Given the description of an element on the screen output the (x, y) to click on. 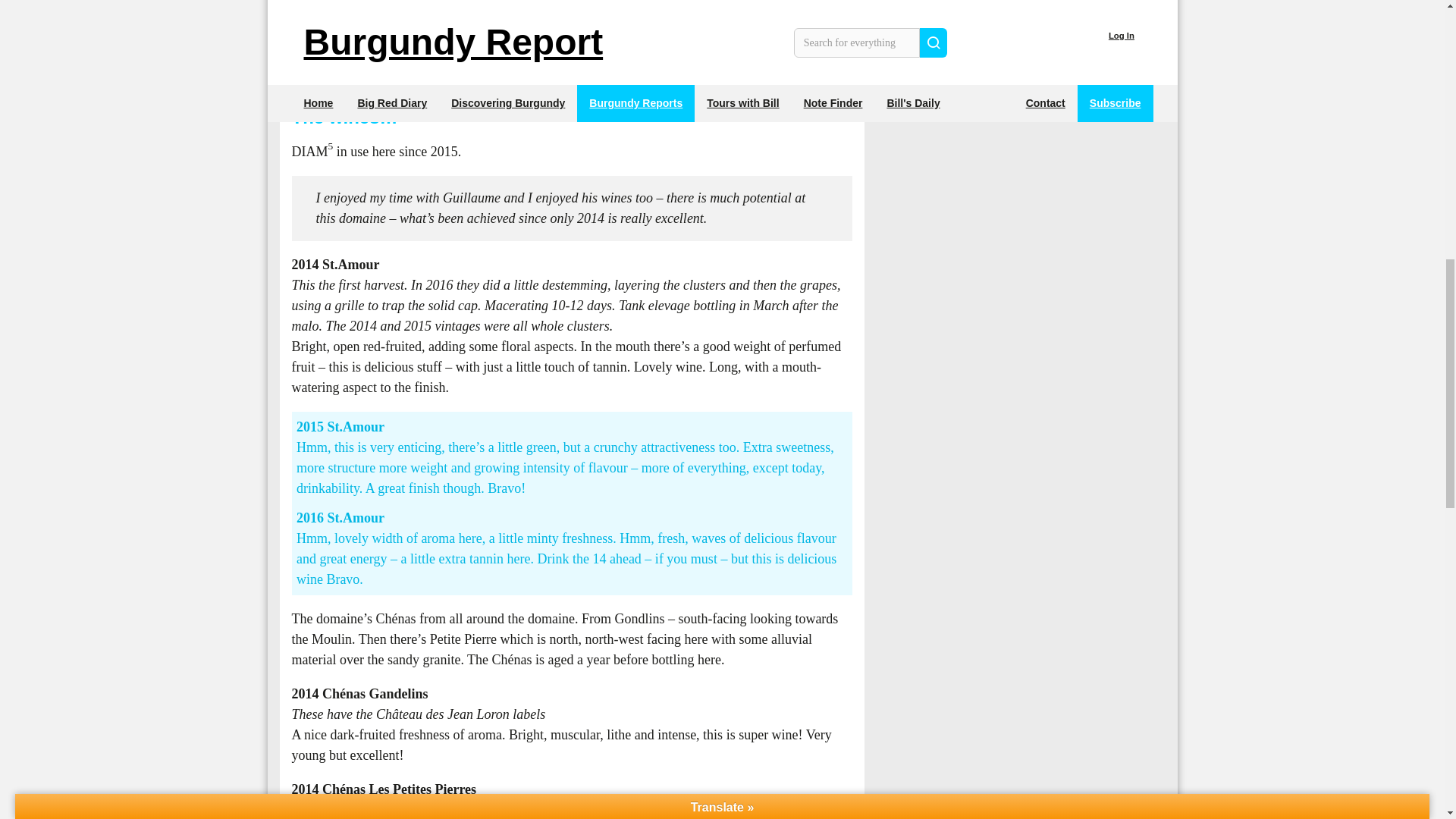
Back to 07-2017 index (949, 6)
